Given the description of an element on the screen output the (x, y) to click on. 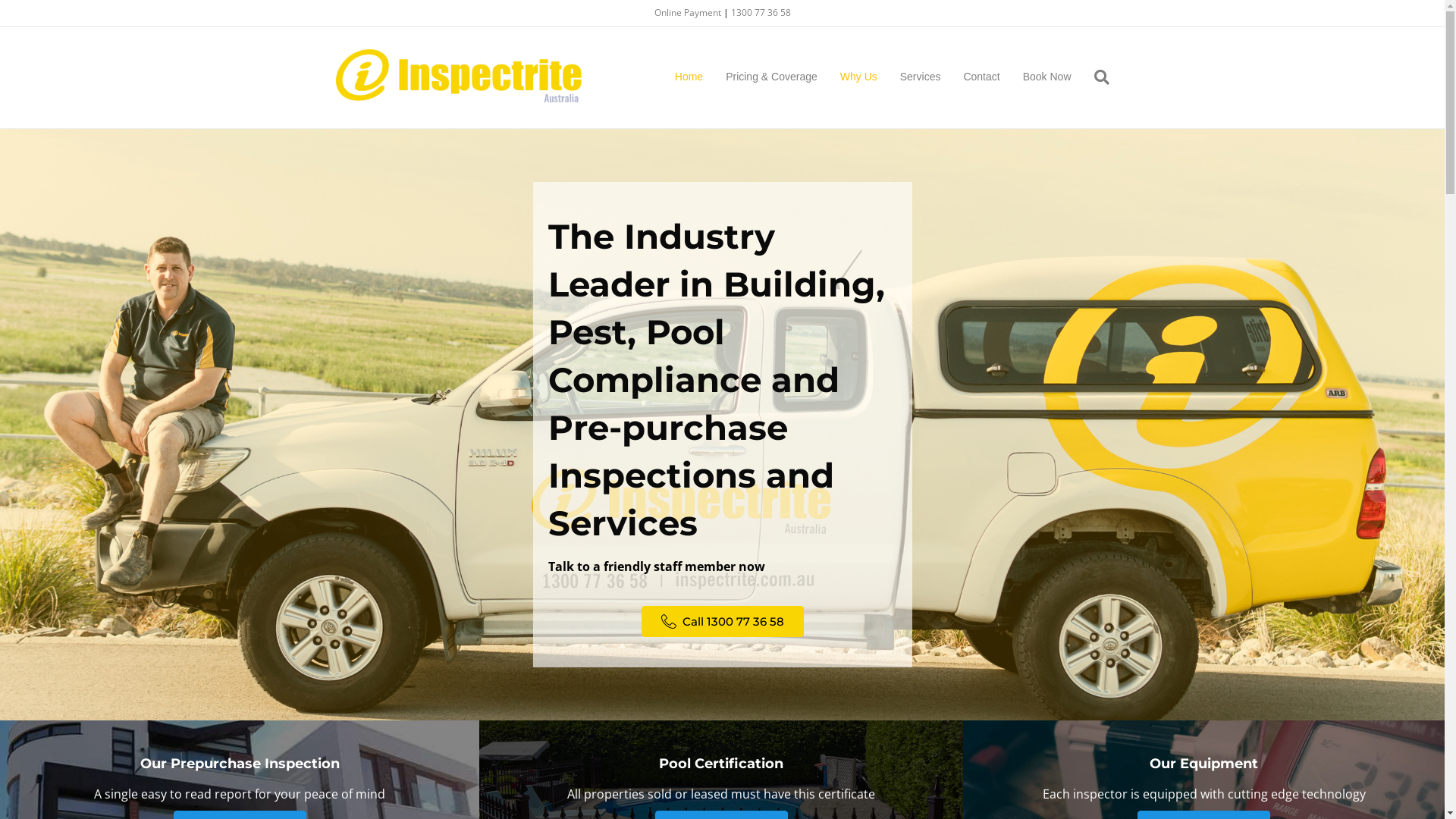
Why Us Element type: text (858, 77)
1300 77 36 58 Element type: text (760, 12)
Online Payment Element type: text (687, 12)
Contact Element type: text (980, 77)
Pricing & Coverage Element type: text (771, 77)
Home Element type: text (688, 77)
Call 1300 77 36 58 Element type: text (722, 621)
Services Element type: text (920, 77)
Book Now Element type: text (1046, 77)
